Given the description of an element on the screen output the (x, y) to click on. 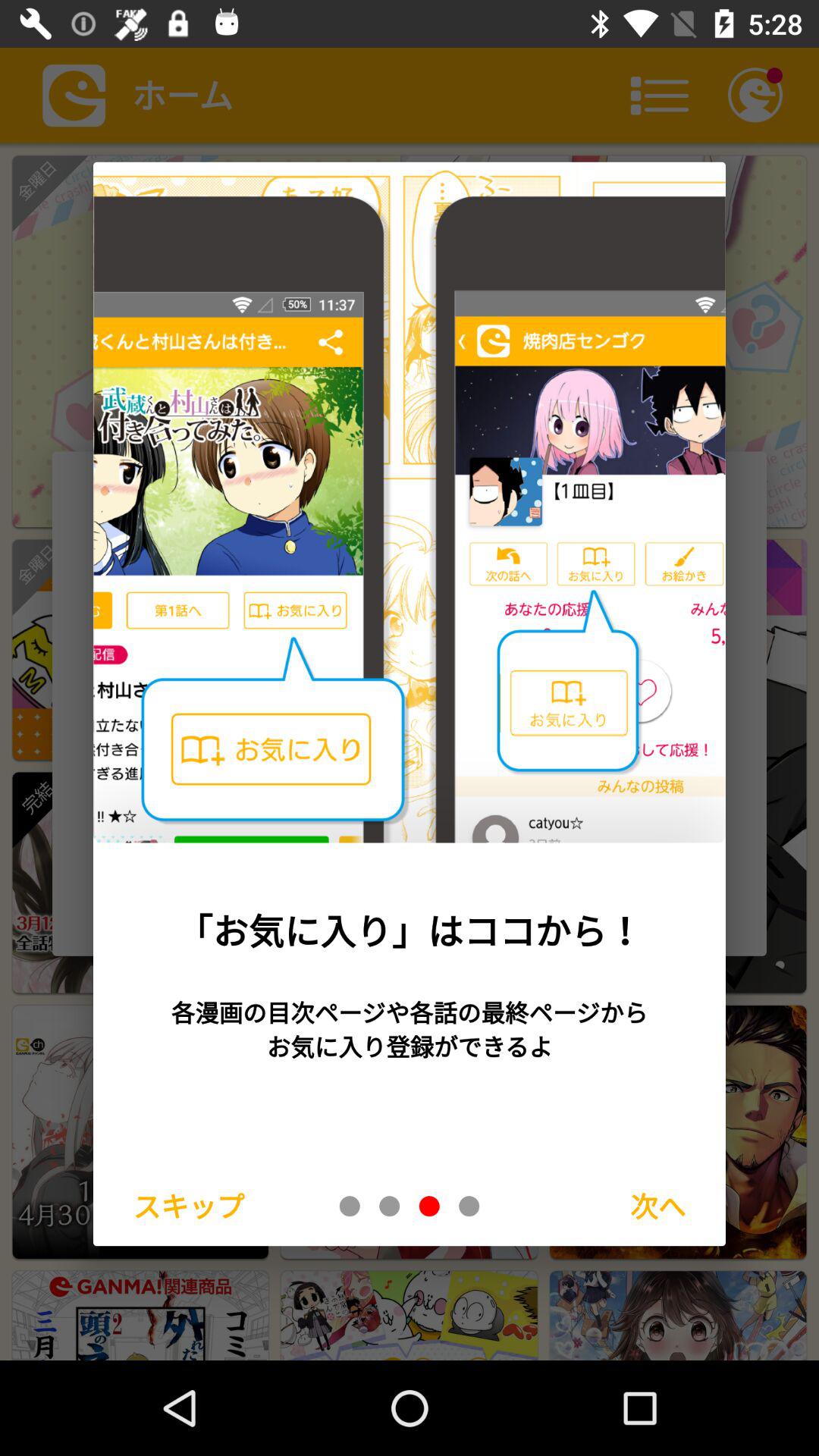
current page (429, 1206)
